Given the description of an element on the screen output the (x, y) to click on. 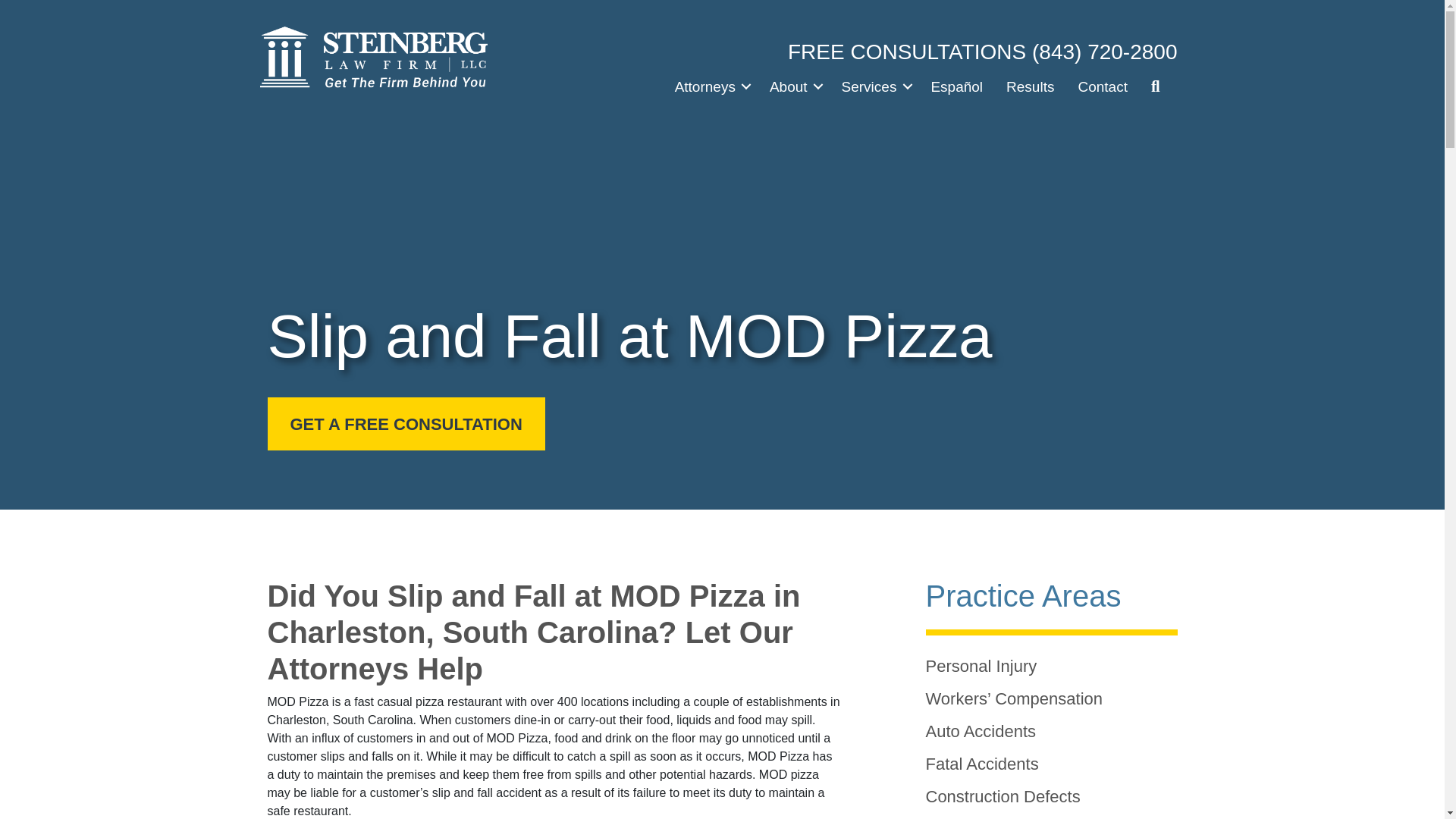
Attorneys (710, 86)
About (793, 86)
The Steinberg Law Firm: Get the firm behind you. (372, 58)
Services (873, 86)
